Given the description of an element on the screen output the (x, y) to click on. 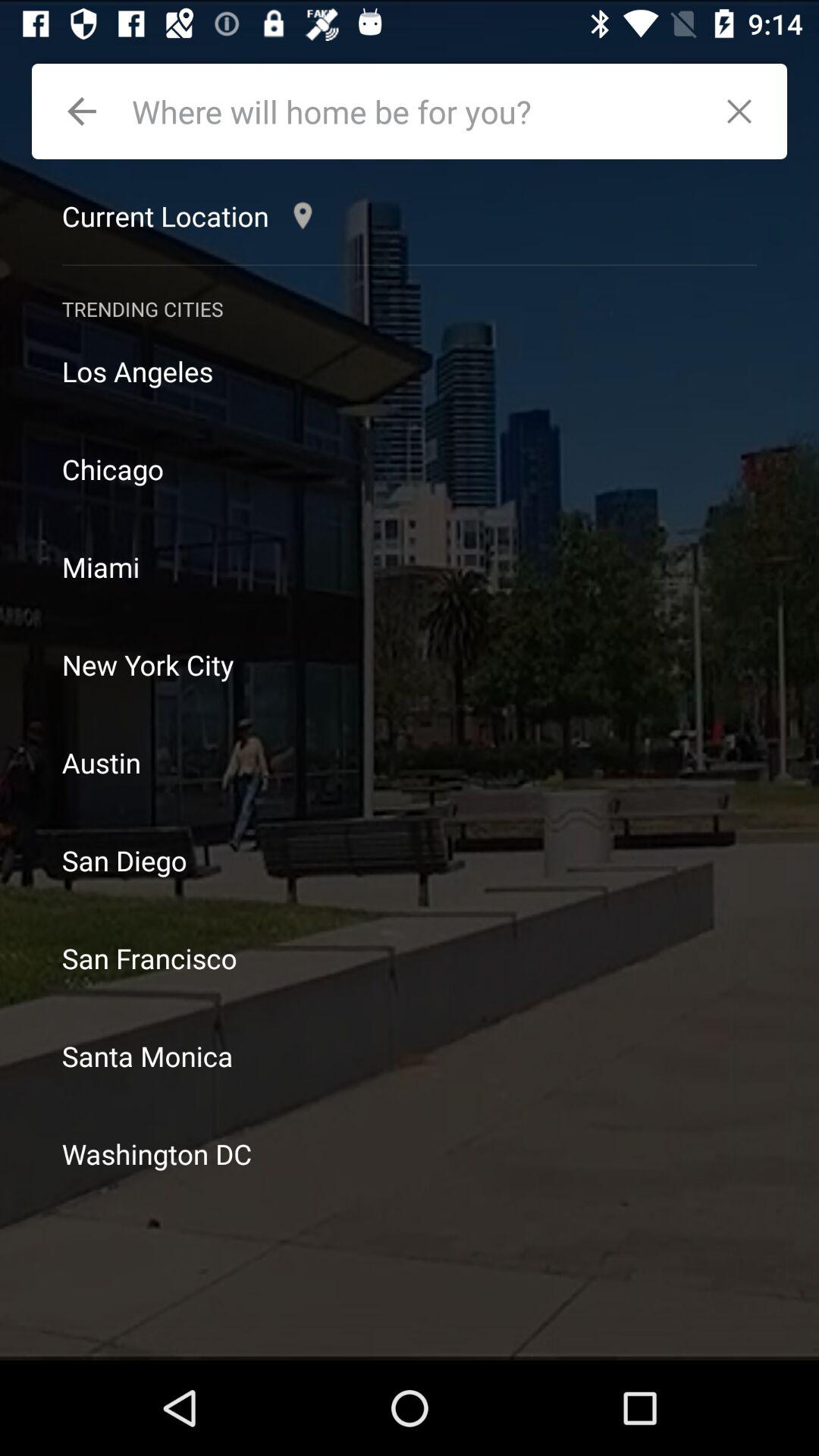
close out search bar (747, 111)
